Given the description of an element on the screen output the (x, y) to click on. 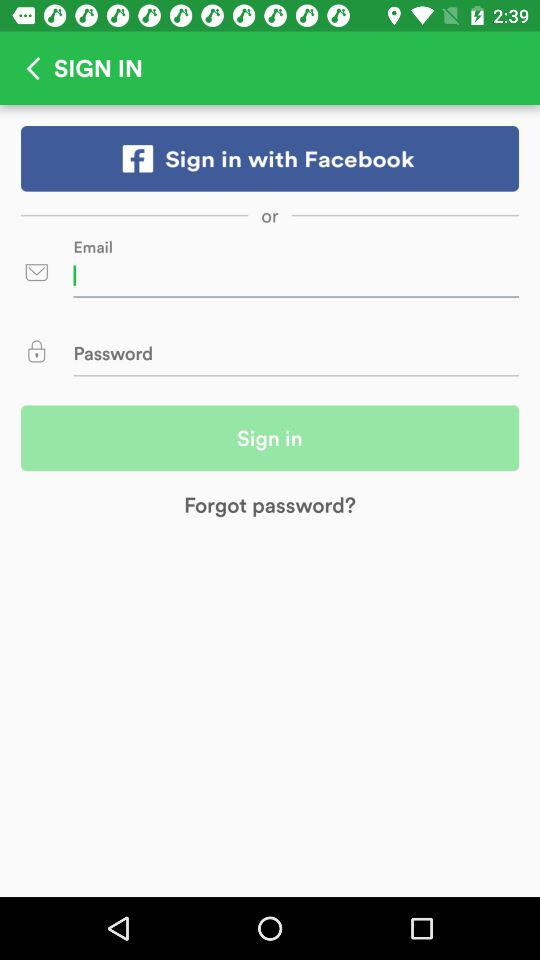
go to previous (27, 68)
